Given the description of an element on the screen output the (x, y) to click on. 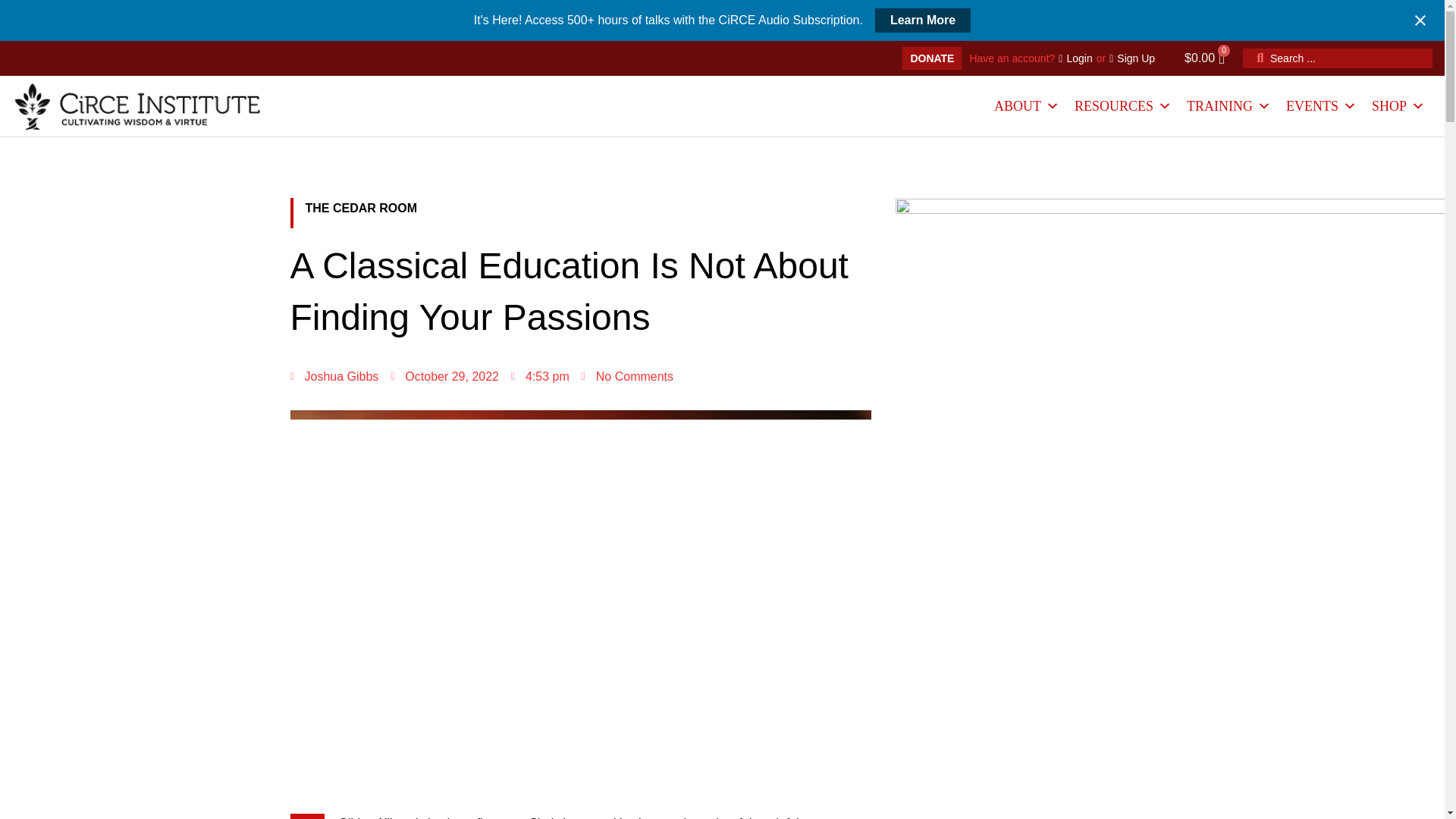
TRAINING (1228, 106)
DONATE (931, 57)
Login (1075, 57)
Learn More (923, 20)
ABOUT (1027, 106)
RESOURCES (1123, 106)
Sign Up (1131, 57)
